Given the description of an element on the screen output the (x, y) to click on. 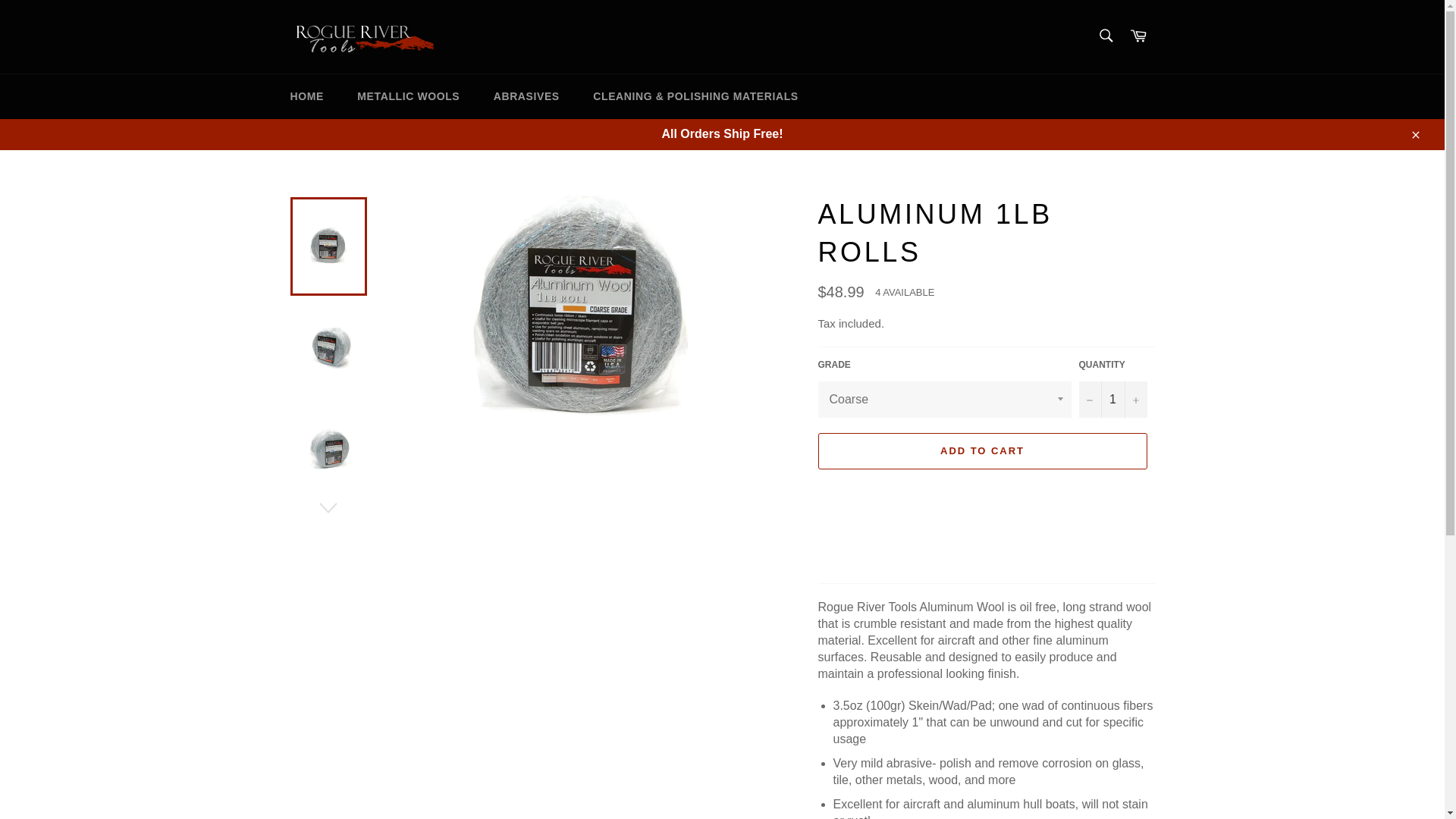
METALLIC WOOLS (408, 96)
Close (1414, 133)
Search (1104, 35)
HOME (306, 96)
ABRASIVES (527, 96)
1 (1112, 399)
Cart (1138, 36)
